Given the description of an element on the screen output the (x, y) to click on. 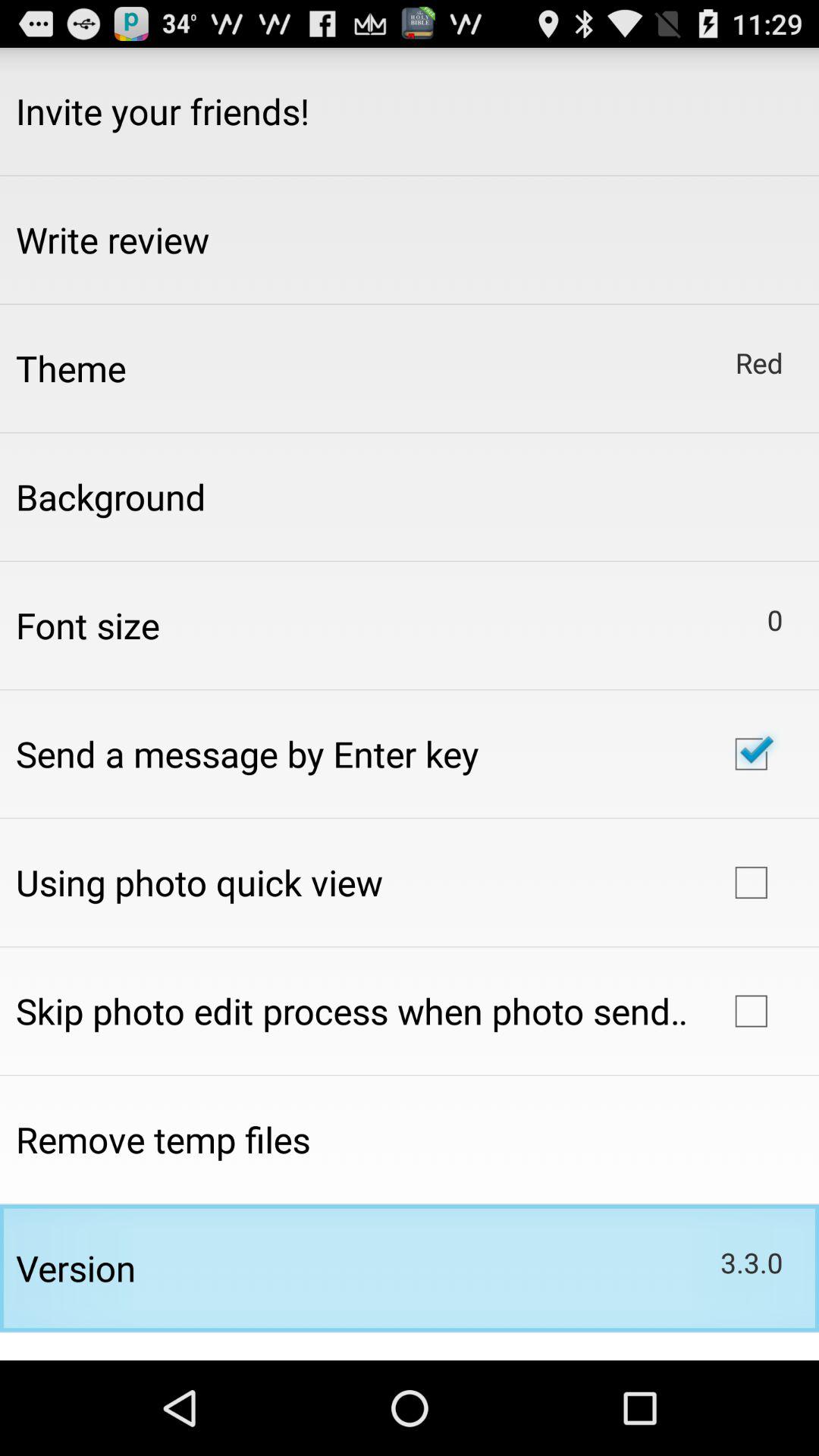
jump until send a message icon (246, 753)
